Given the description of an element on the screen output the (x, y) to click on. 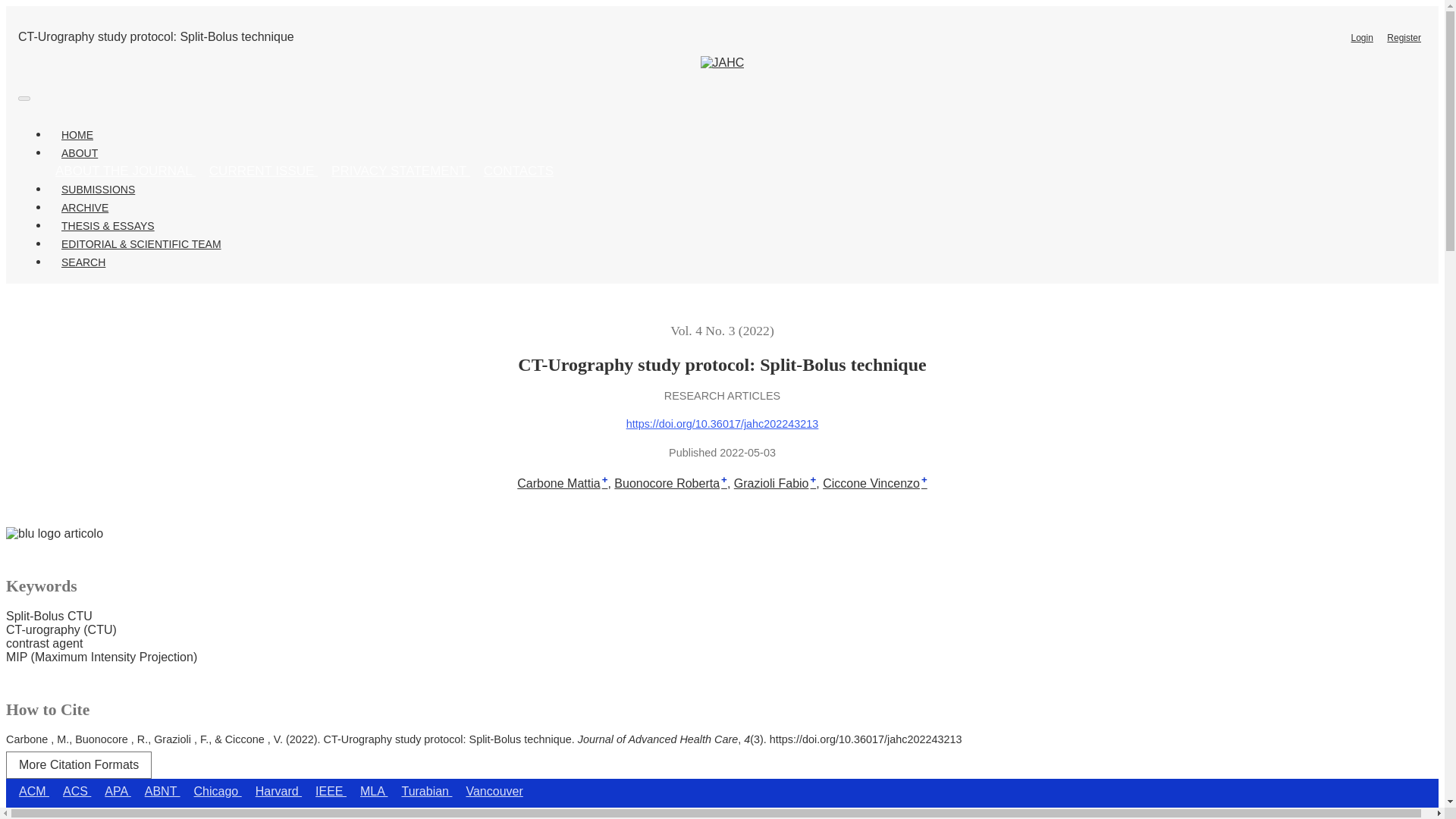
SEARCH (82, 262)
Register (1403, 37)
ACS (76, 790)
PRIVACY STATEMENT (400, 171)
Turabian (426, 790)
Harvard (278, 790)
ABOUT THE JOURNAL (125, 171)
More Citation Formats (78, 764)
CONTACTS (518, 171)
HOME (77, 134)
